Given the description of an element on the screen output the (x, y) to click on. 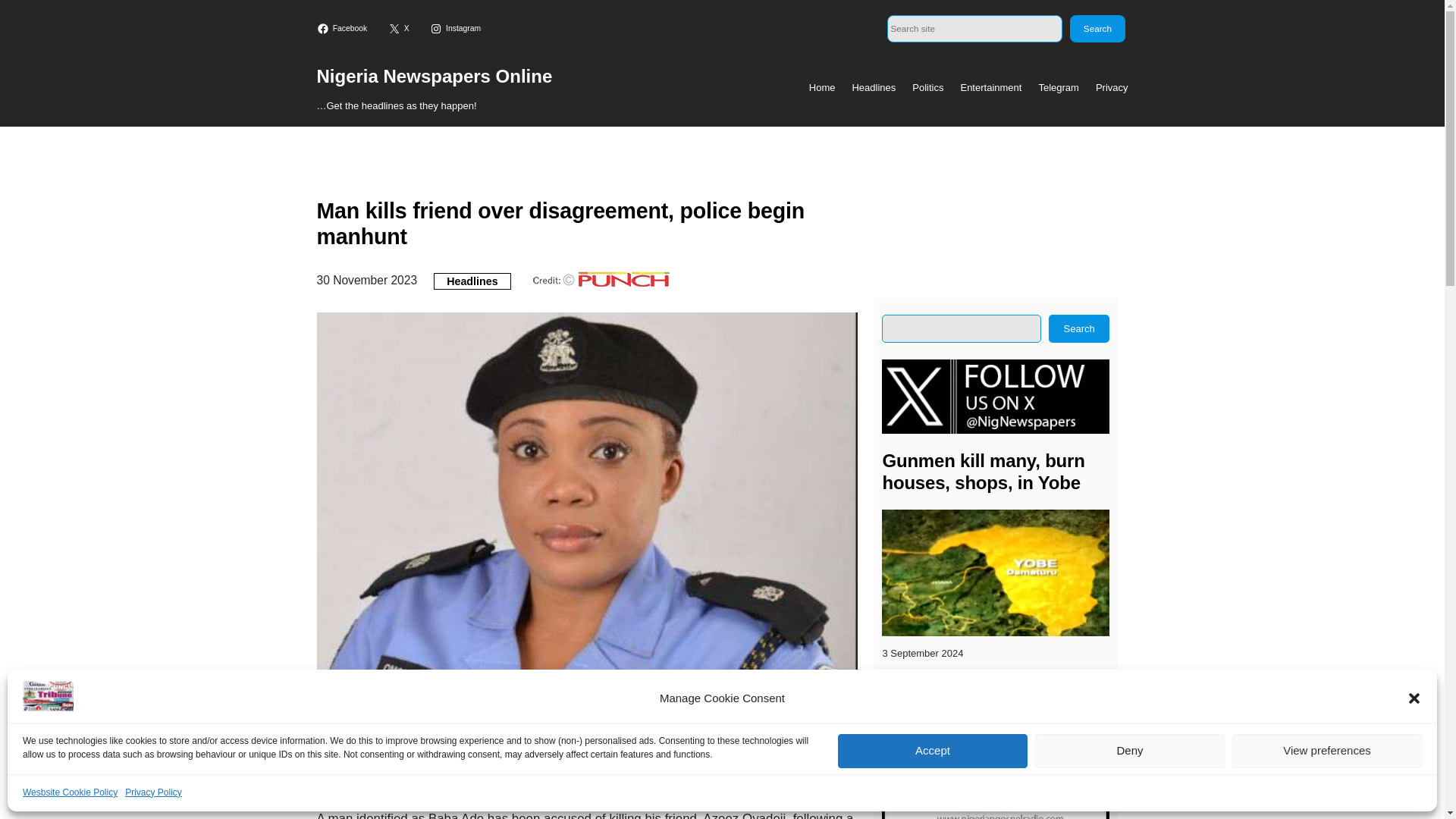
X (400, 28)
Headlines (873, 88)
Accept (932, 750)
Search (1097, 28)
Wesbsite Cookie Policy (70, 792)
Privacy (1112, 88)
Entertainment (990, 88)
Telegram (1058, 88)
